Given the description of an element on the screen output the (x, y) to click on. 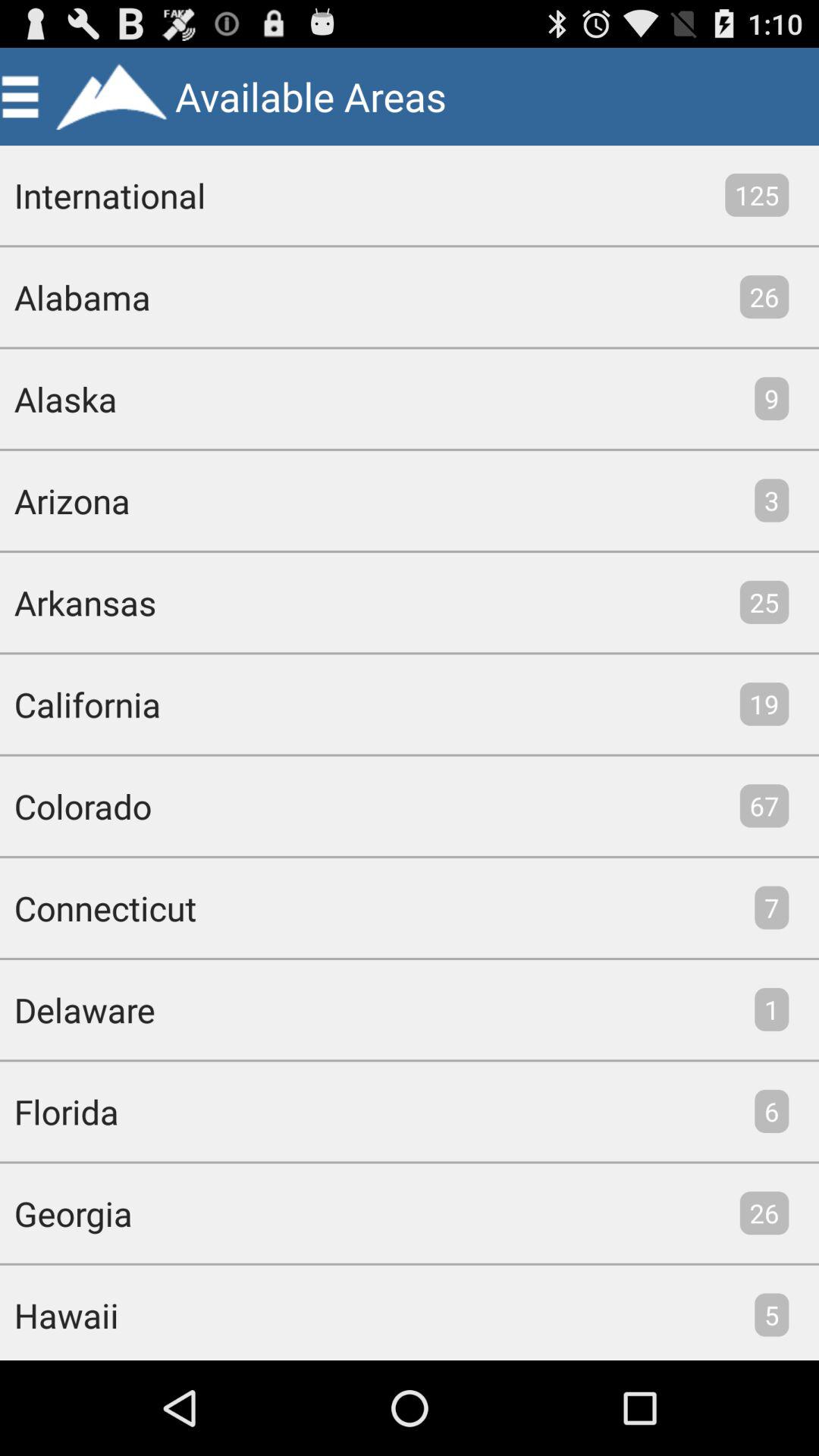
scroll until the 1 icon (771, 1009)
